Given the description of an element on the screen output the (x, y) to click on. 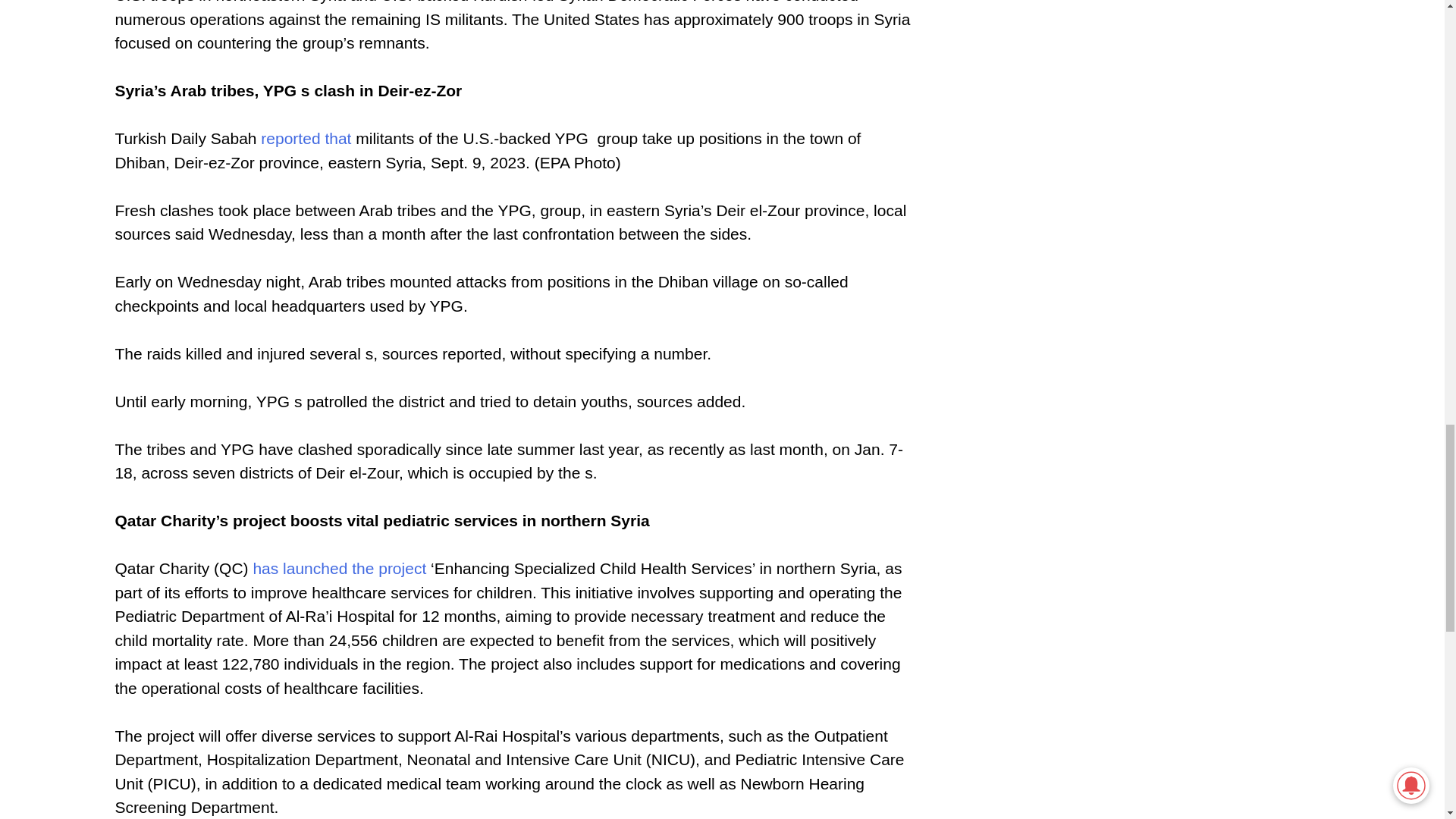
reported that (305, 138)
has launched the project (338, 568)
